Given the description of an element on the screen output the (x, y) to click on. 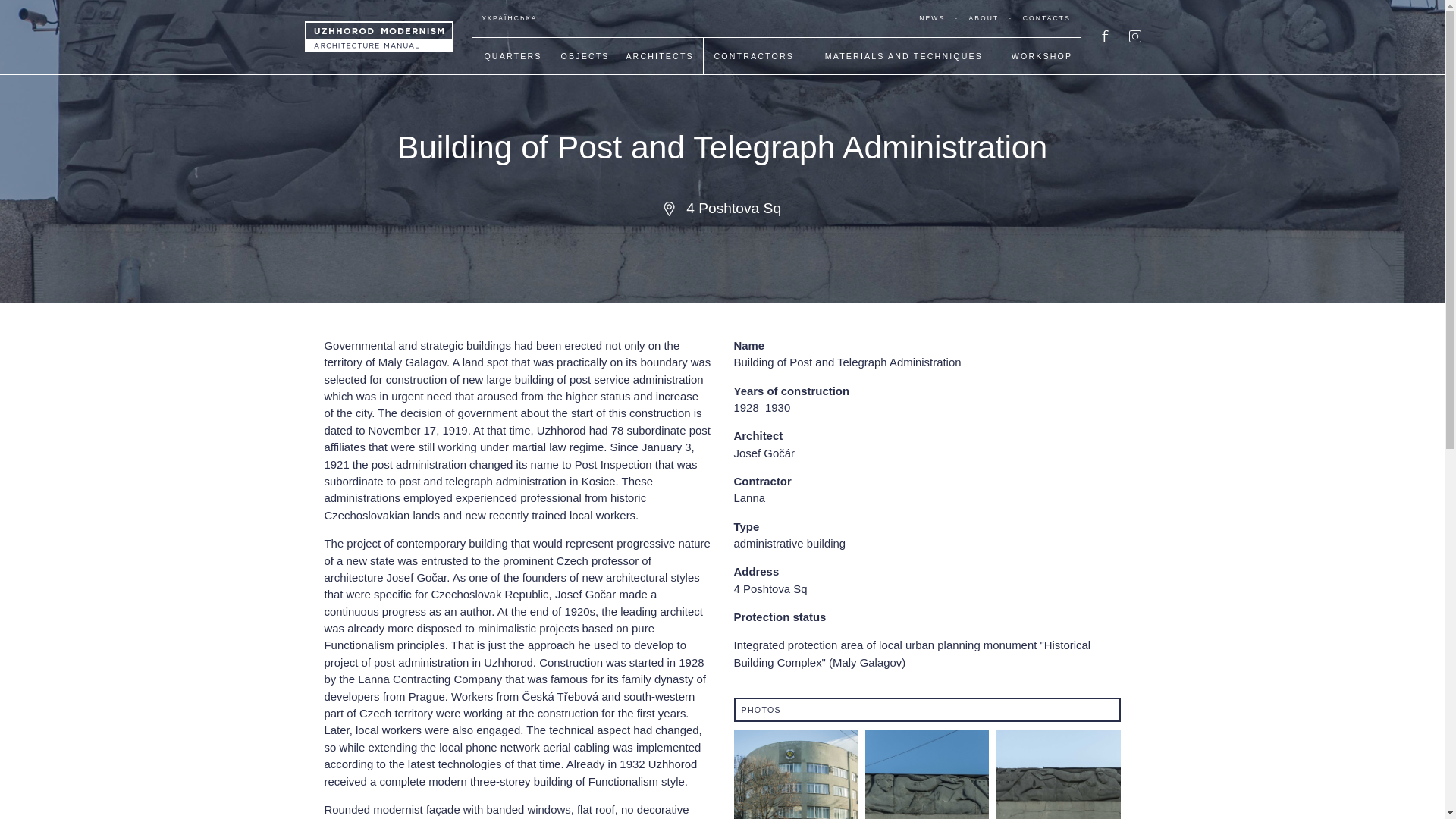
CONTACTS (1046, 18)
WORKSHOP (1041, 70)
OBJECTS (584, 70)
ARCHITECTS (660, 70)
MATERIALS AND TECHNIQUES (903, 70)
ABOUT (983, 18)
Lanna (749, 497)
CONTRACTORS (753, 70)
NEWS (931, 18)
QUARTERS (513, 70)
